Given the description of an element on the screen output the (x, y) to click on. 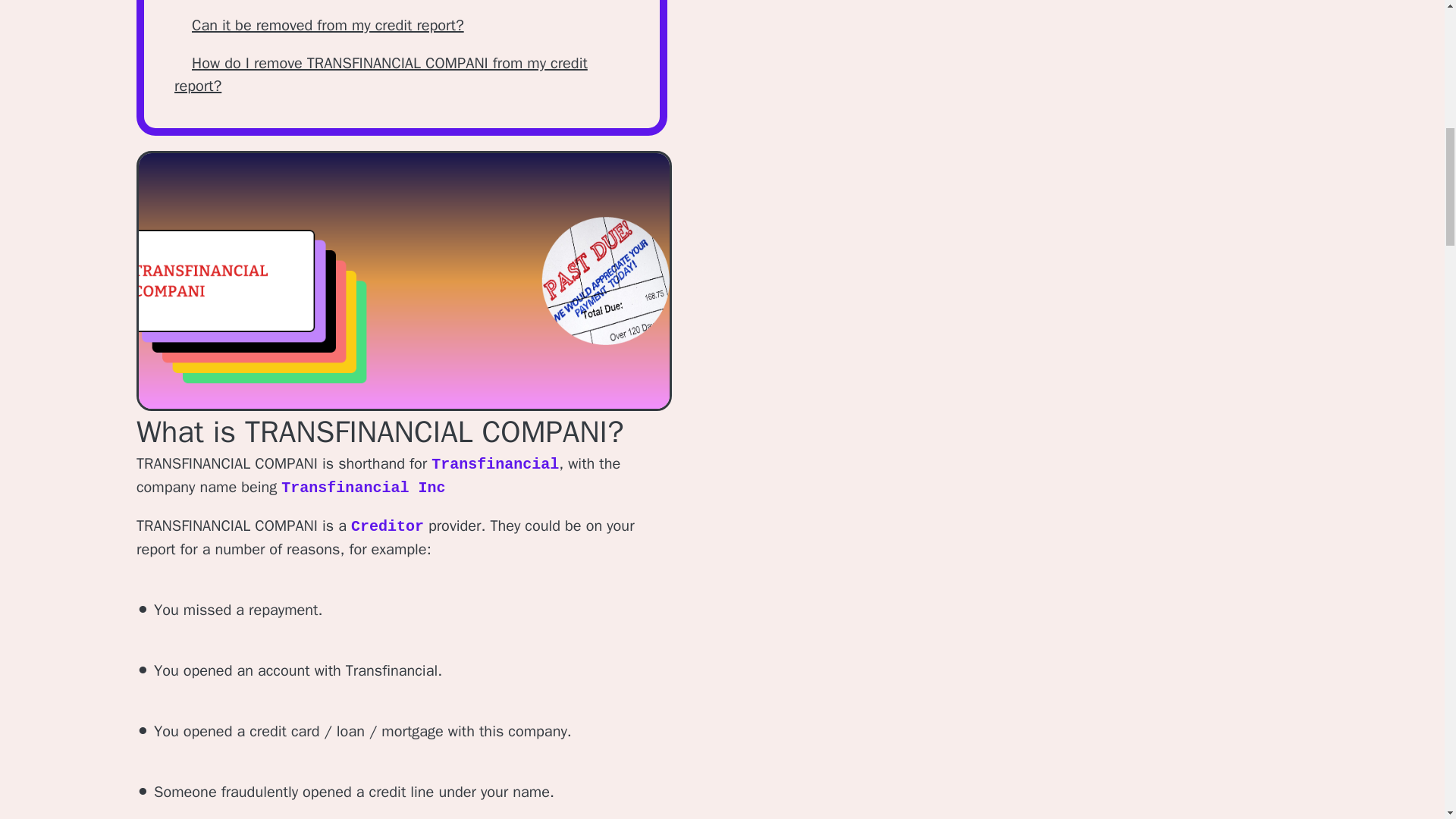
Can it be removed from my credit report? (328, 25)
